Given the description of an element on the screen output the (x, y) to click on. 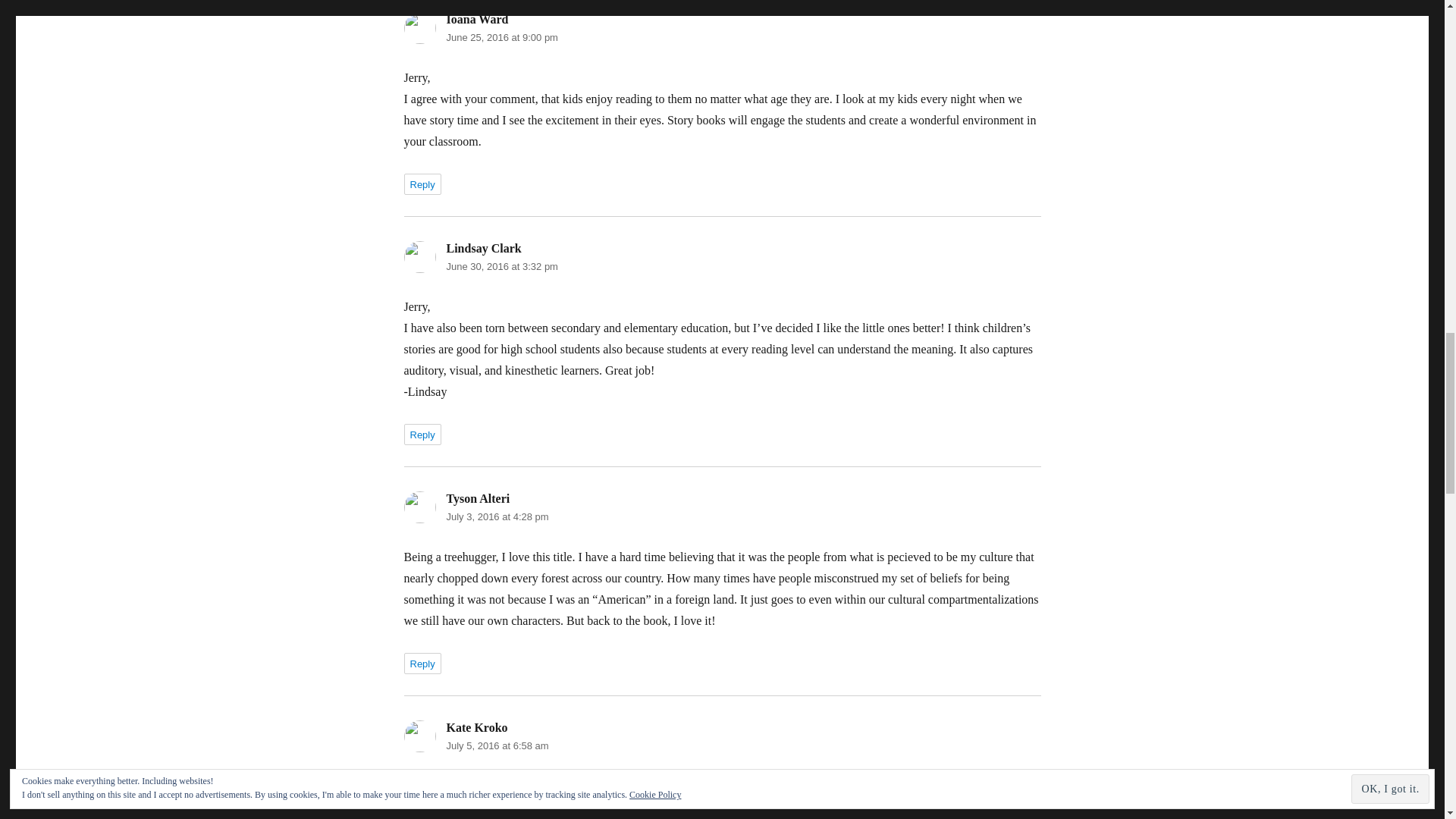
June 25, 2016 at 9:00 pm (501, 37)
June 30, 2016 at 3:32 pm (501, 266)
Reply (422, 183)
July 5, 2016 at 6:58 am (496, 745)
Reply (422, 434)
July 3, 2016 at 4:28 pm (496, 516)
Reply (422, 663)
